Given the description of an element on the screen output the (x, y) to click on. 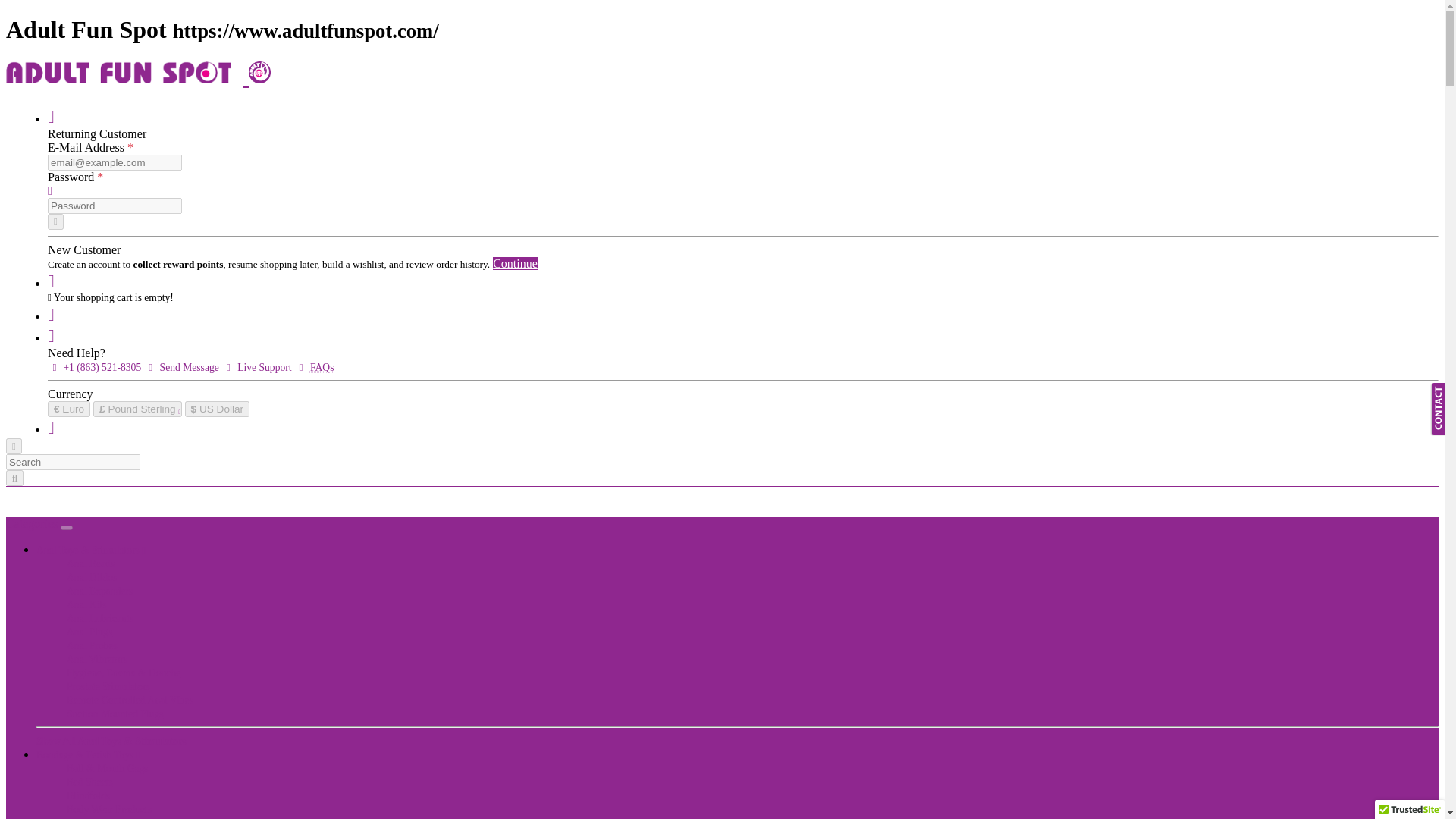
Frequently Asked Questions (321, 367)
Anal Probes (91, 645)
Remote Controlled Anal Vibes (129, 699)
Anal Expanders (99, 591)
Anal Dildos (91, 577)
Bed Sheets (89, 781)
Suction Mounted Plugs (114, 713)
Anal Kits (86, 604)
Continue (515, 263)
Anal Lubricants (99, 618)
Categories (31, 522)
Send Message (181, 367)
Prostate Stimulators (107, 686)
Anal Vibrators (97, 659)
